Given the description of an element on the screen output the (x, y) to click on. 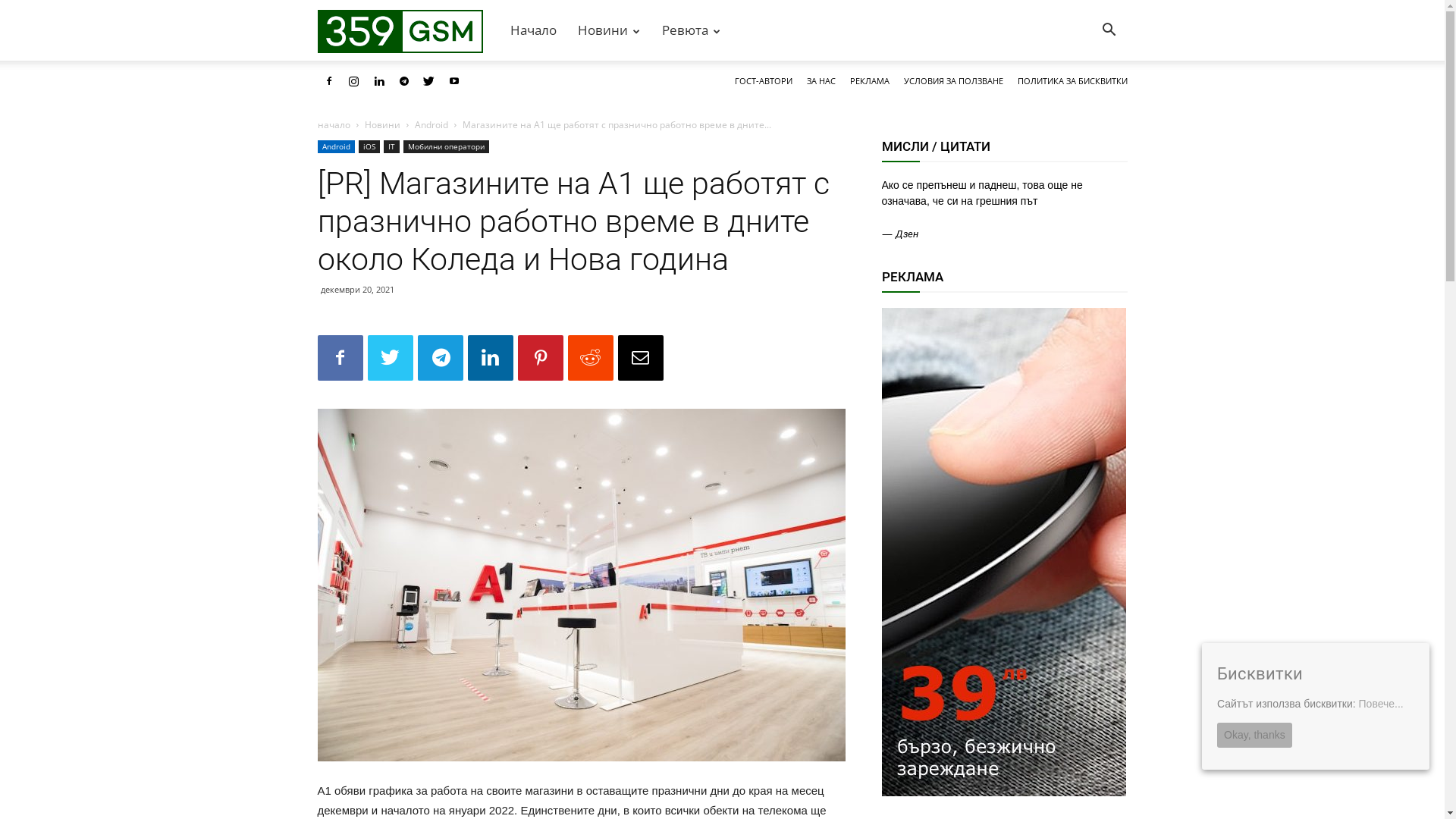
Telegram Element type: hover (403, 80)
Okay, thanks Element type: text (1254, 734)
IT Element type: text (391, 146)
Facebook Element type: hover (327, 80)
Android Element type: text (430, 124)
Android Element type: text (335, 146)
Instagram Element type: hover (353, 80)
Twitter Element type: hover (428, 80)
A1-shop-mall-paradise-1 Element type: hover (580, 584)
Linkedin Element type: hover (378, 80)
iOS Element type: text (368, 146)
Youtube Element type: hover (453, 80)
